Given the description of an element on the screen output the (x, y) to click on. 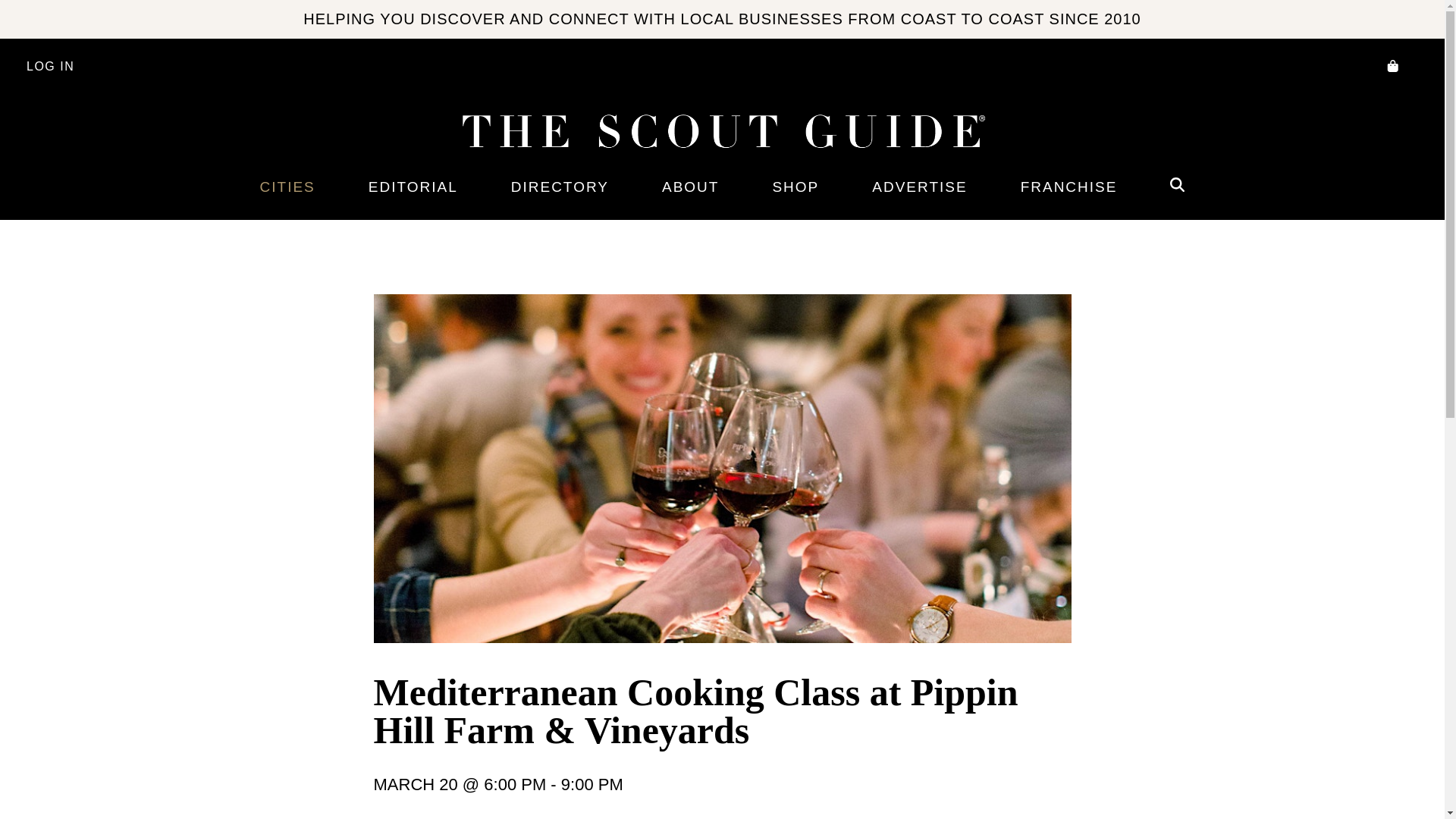
ABOUT (689, 186)
LOG IN (49, 66)
CITIES (287, 186)
ADVERTISE (919, 186)
DIRECTORY (559, 186)
SHOP (795, 186)
FRANCHISE (1069, 186)
EDITORIAL (413, 186)
Click Here (1356, 178)
